Given the description of an element on the screen output the (x, y) to click on. 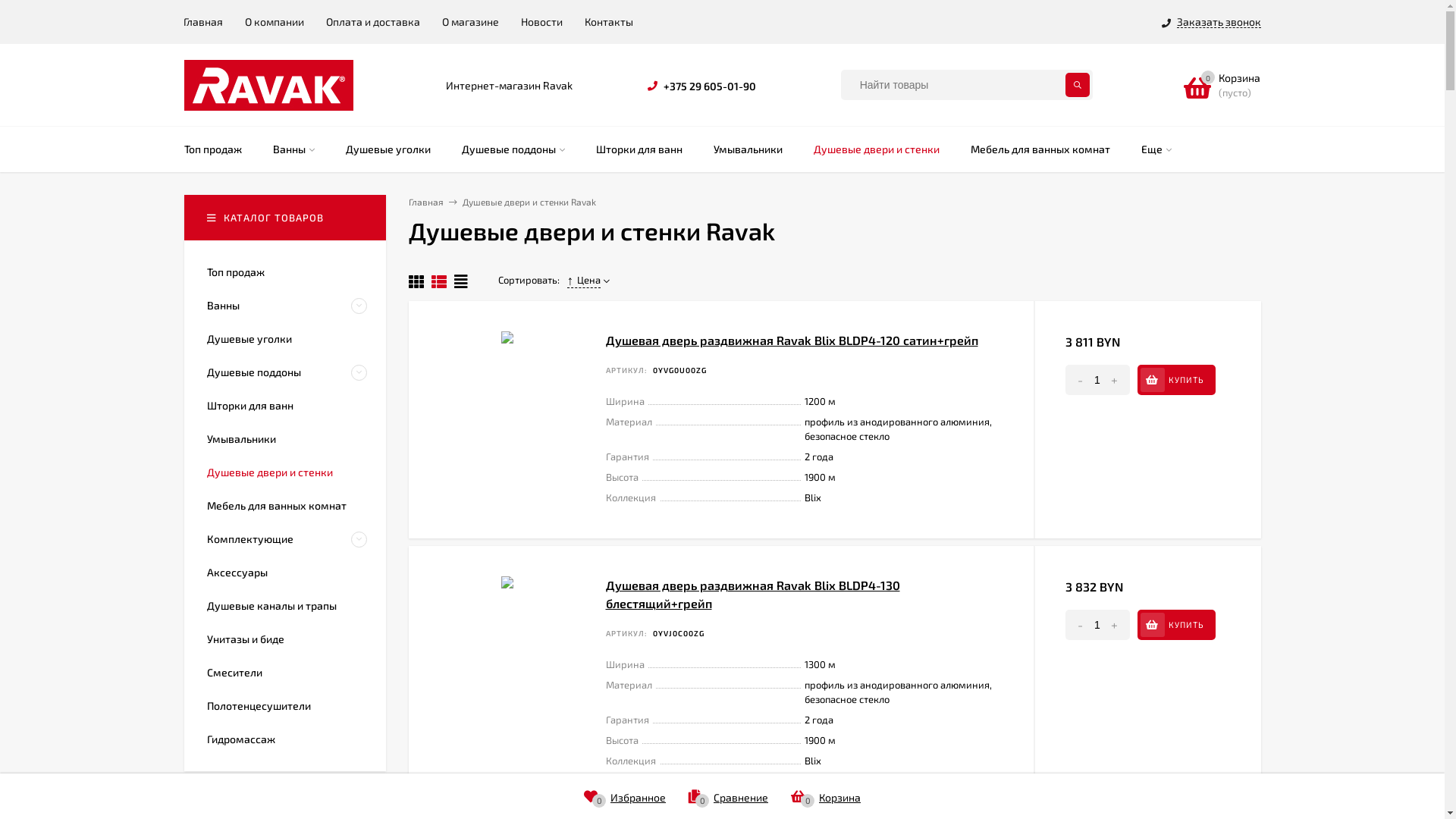
+375 29 605-01-90 Element type: text (709, 85)
